Given the description of an element on the screen output the (x, y) to click on. 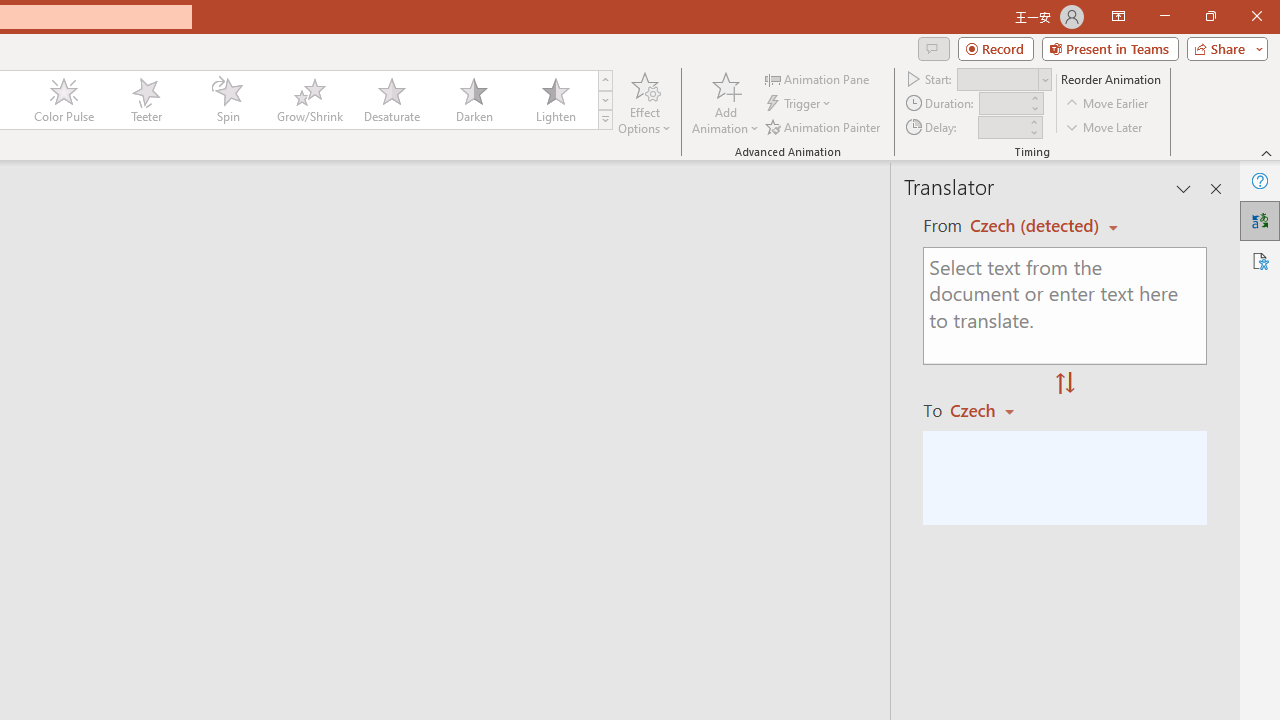
Add Animation (725, 102)
Translator (1260, 220)
Animation Delay (1002, 127)
Swap "from" and "to" languages. (1065, 383)
Class: NetUIImage (605, 119)
Animation Styles (605, 120)
Teeter (145, 100)
Less (1033, 132)
Open (1044, 79)
Move Later (1105, 126)
Trigger (799, 103)
